Given the description of an element on the screen output the (x, y) to click on. 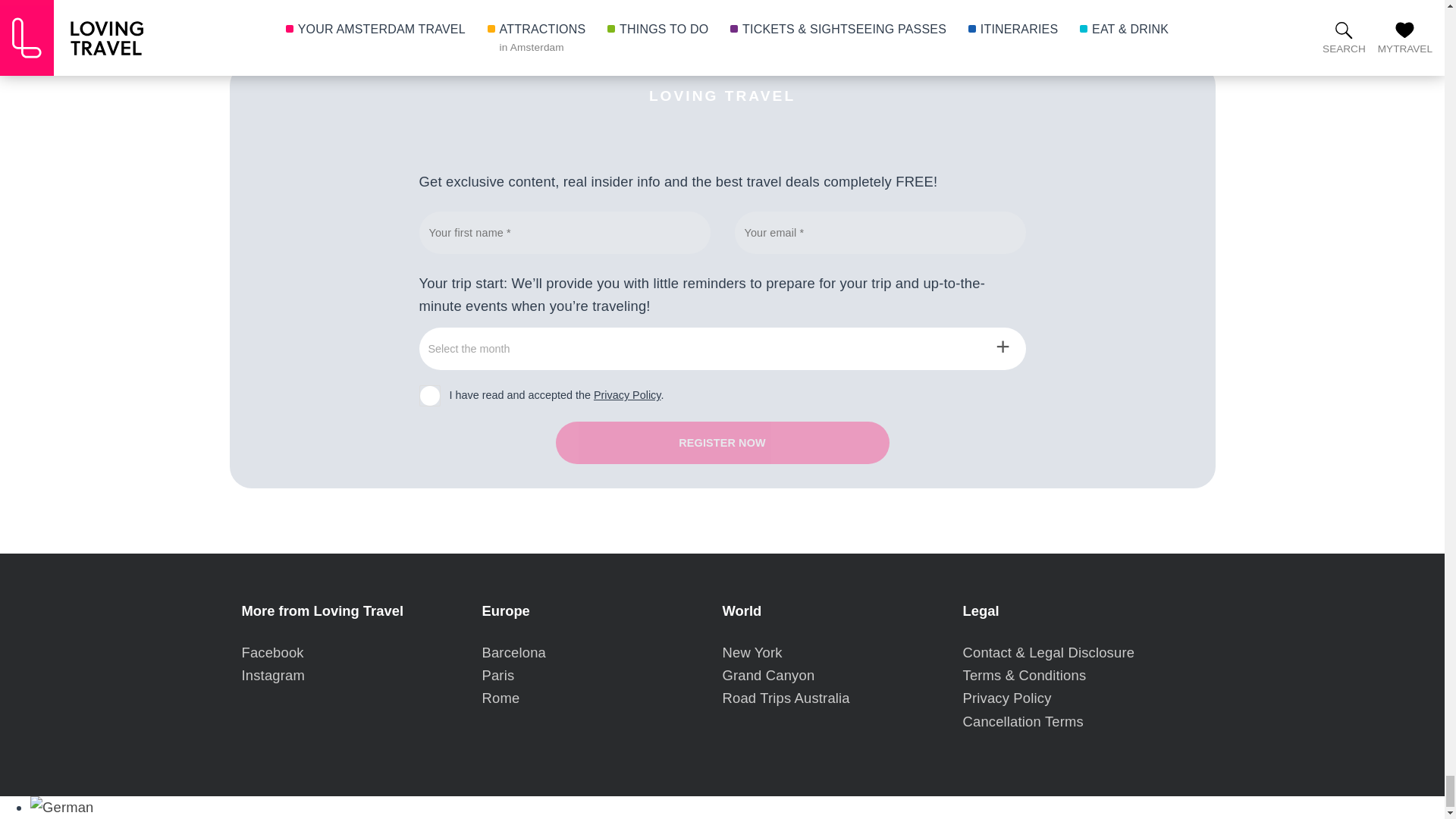
Register now (721, 442)
